Given the description of an element on the screen output the (x, y) to click on. 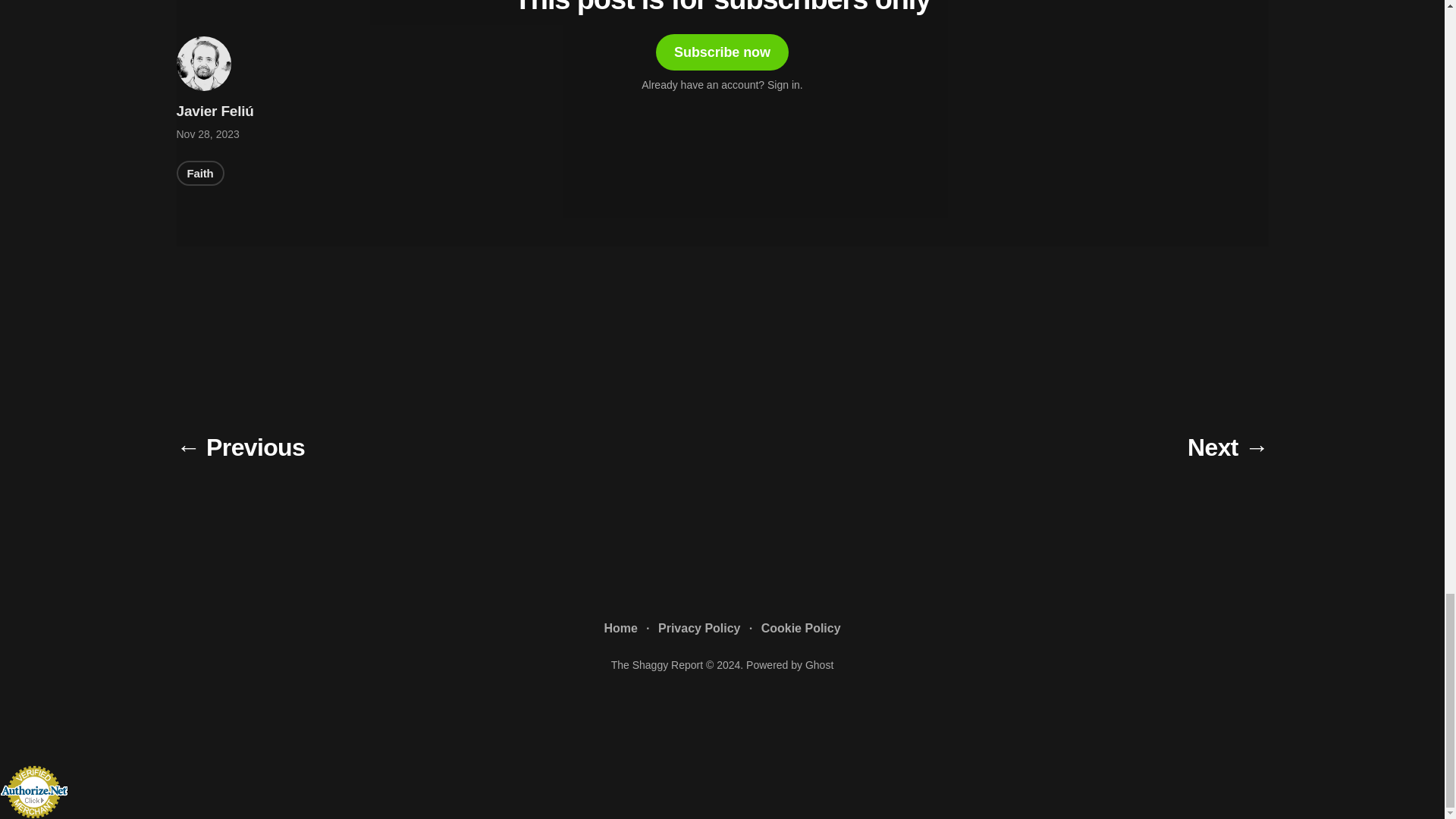
Subscribe now (722, 52)
Ghost (818, 664)
Cookie Policy (801, 628)
Home (620, 628)
Privacy Policy (699, 628)
